Given the description of an element on the screen output the (x, y) to click on. 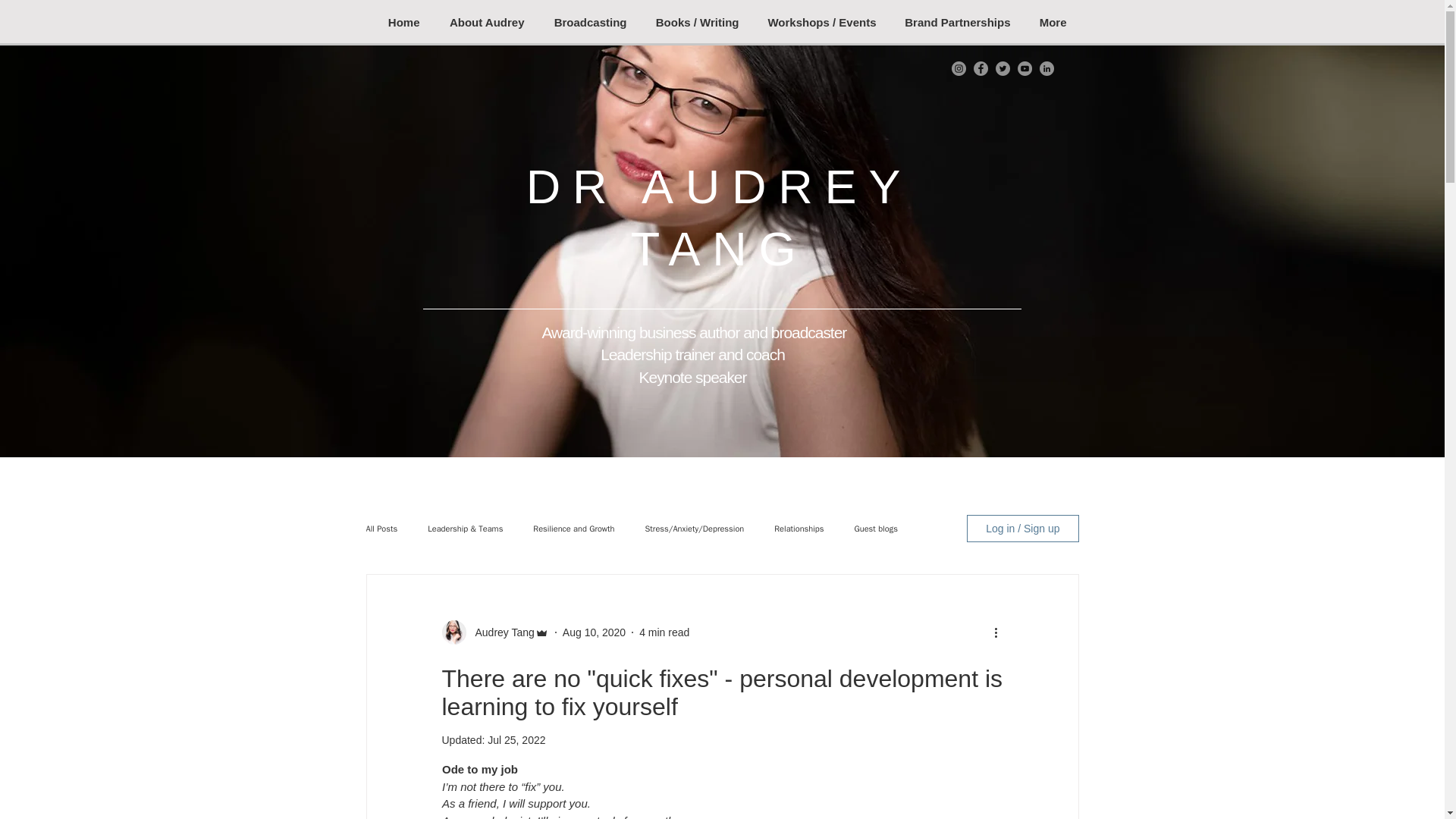
4 min read (663, 632)
Relationships (799, 528)
Brand Partnerships (954, 22)
Resilience and Growth (573, 528)
Broadcasting (586, 22)
Aug 10, 2020 (594, 632)
Guest blogs (874, 528)
All Posts (381, 528)
Jul 25, 2022 (515, 739)
Audrey Tang (499, 632)
